Given the description of an element on the screen output the (x, y) to click on. 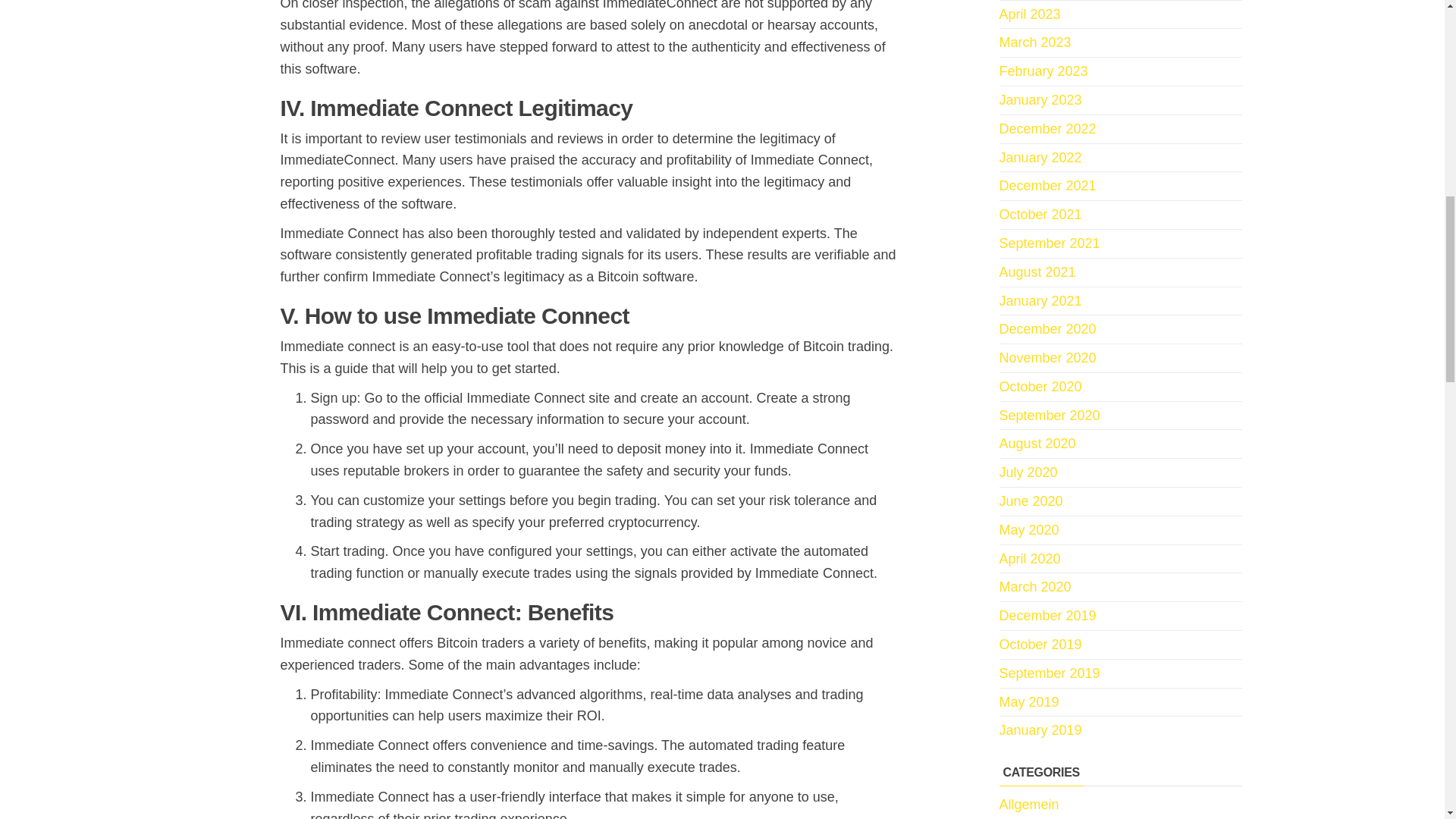
March 2023 (1034, 42)
January 2023 (1039, 99)
December 2021 (1047, 185)
November 2020 (1047, 357)
February 2023 (1042, 70)
December 2022 (1047, 128)
October 2020 (1039, 386)
January 2021 (1039, 299)
August 2021 (1036, 272)
April 2023 (1029, 14)
October 2021 (1039, 214)
September 2020 (1049, 415)
December 2020 (1047, 328)
January 2022 (1039, 157)
September 2021 (1049, 242)
